Given the description of an element on the screen output the (x, y) to click on. 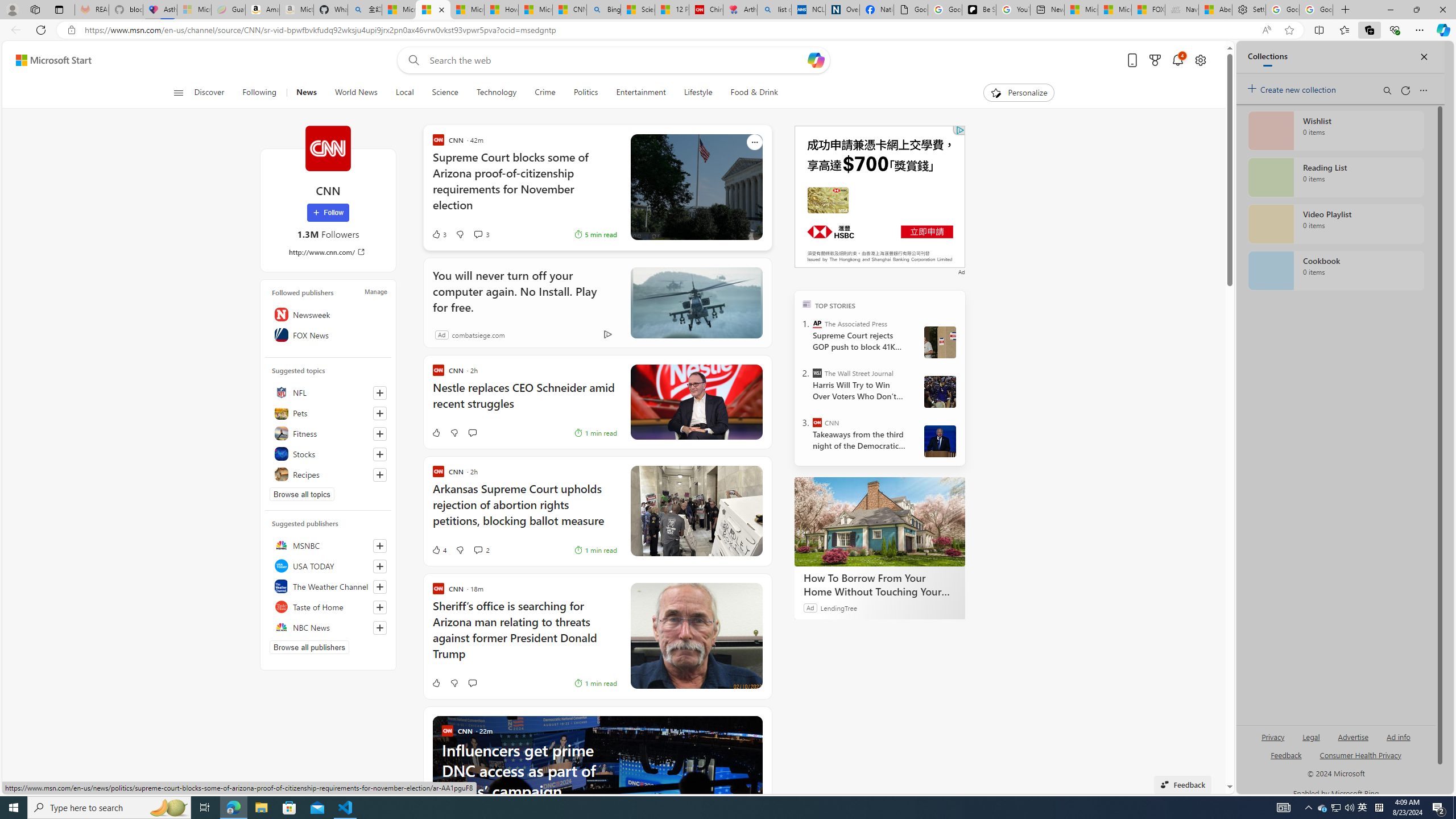
Like (435, 682)
Be Smart | creating Science videos | Patreon (978, 9)
USA TODAY (327, 565)
AutomationID: genId96 (1285, 759)
Follow this source (379, 627)
Science - MSN (637, 9)
Politics (585, 92)
Open Copilot (815, 59)
Follow (328, 212)
Discover (208, 92)
list of asthma inhalers uk - Search (774, 9)
